Given the description of an element on the screen output the (x, y) to click on. 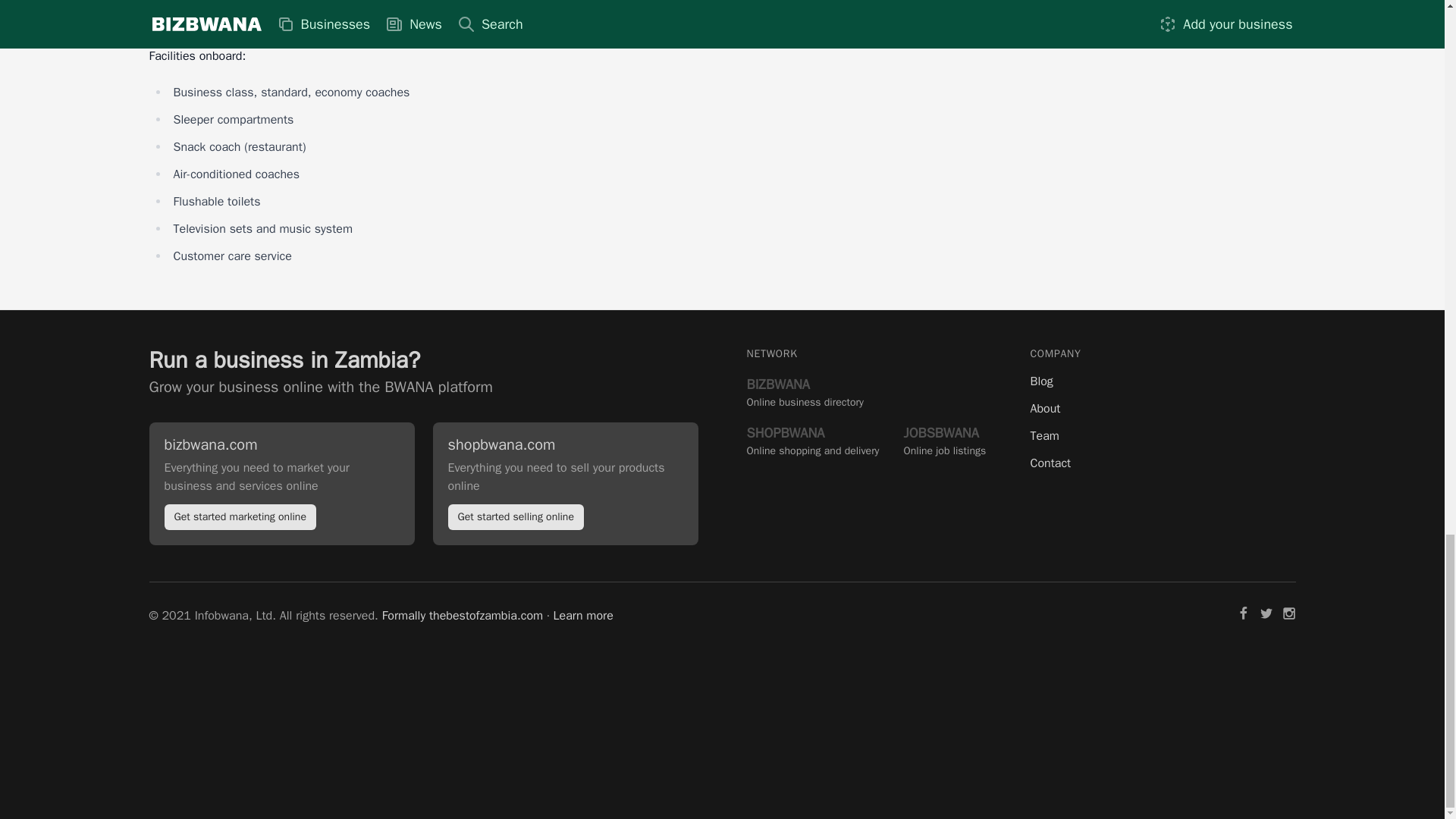
About (1162, 408)
Grow your business online with the BWANA platform (320, 386)
Team (812, 440)
Blog (1162, 435)
Get started selling online (1162, 381)
Get started marketing online (945, 440)
Contact (804, 391)
